Given the description of an element on the screen output the (x, y) to click on. 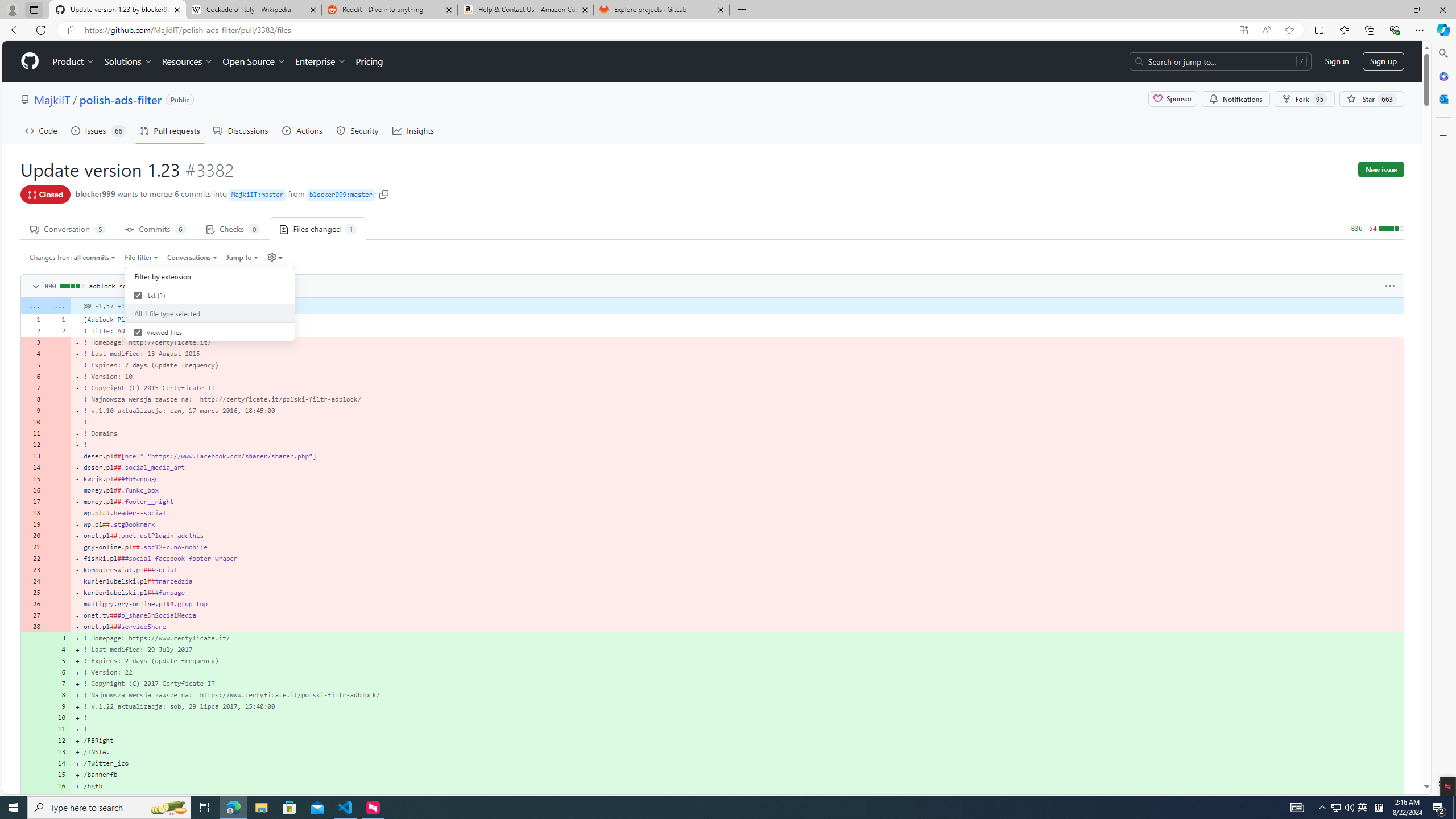
Open Source (254, 60)
9 (58, 706)
- multigry.gry-online.pl##.gtop_top (737, 603)
Code (41, 130)
- onet.pl###serviceShare (737, 626)
7 (58, 683)
Code (41, 130)
- fishki.pl###social-facebook-footer-wraper (737, 558)
adblock_social_filters/adblock_social_list.txt (175, 285)
Security (357, 130)
